Given the description of an element on the screen output the (x, y) to click on. 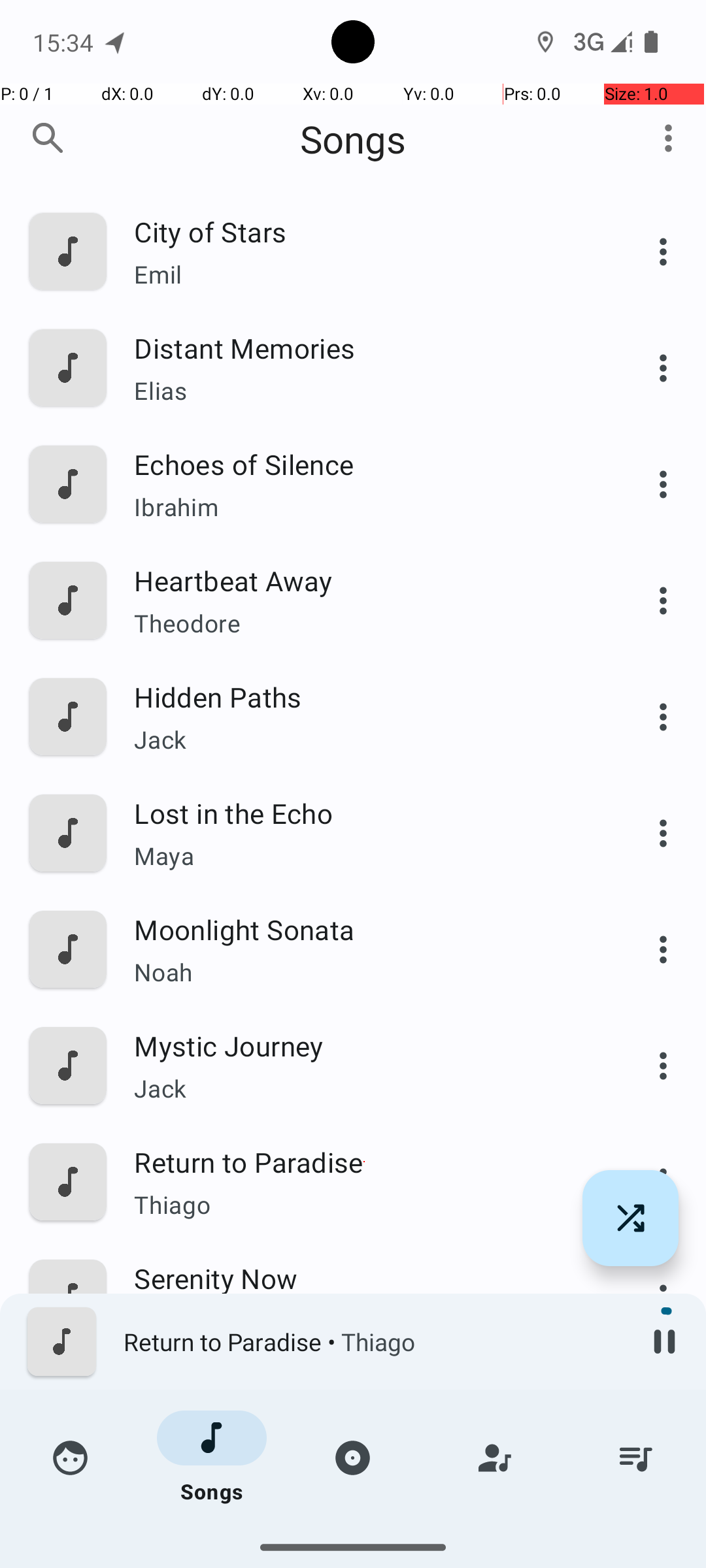
Return to Paradise • Thiago Element type: android.widget.TextView (372, 1341)
City of Stars Element type: android.widget.TextView (363, 231)
Emil Element type: android.widget.TextView (363, 273)
Distant Memories Element type: android.widget.TextView (363, 347)
Elias Element type: android.widget.TextView (363, 390)
Echoes of Silence Element type: android.widget.TextView (363, 463)
Ibrahim Element type: android.widget.TextView (363, 506)
Heartbeat Away Element type: android.widget.TextView (363, 580)
Theodore Element type: android.widget.TextView (363, 622)
Hidden Paths Element type: android.widget.TextView (363, 696)
Jack Element type: android.widget.TextView (363, 738)
Lost in the Echo Element type: android.widget.TextView (363, 812)
Maya Element type: android.widget.TextView (363, 855)
Moonlight Sonata Element type: android.widget.TextView (363, 928)
Noah Element type: android.widget.TextView (363, 971)
Mystic Journey Element type: android.widget.TextView (363, 1045)
Return to Paradise Element type: android.widget.TextView (363, 1161)
Thiago Element type: android.widget.TextView (363, 1204)
Serenity Now Element type: android.widget.TextView (363, 1277)
Mark Element type: android.widget.TextView (363, 1320)
Silent Dreams Element type: android.widget.TextView (363, 1394)
Olivia Element type: android.widget.TextView (363, 1436)
Twilight Calling Element type: android.widget.TextView (363, 1510)
Emilia Element type: android.widget.TextView (363, 1538)
